Given the description of an element on the screen output the (x, y) to click on. 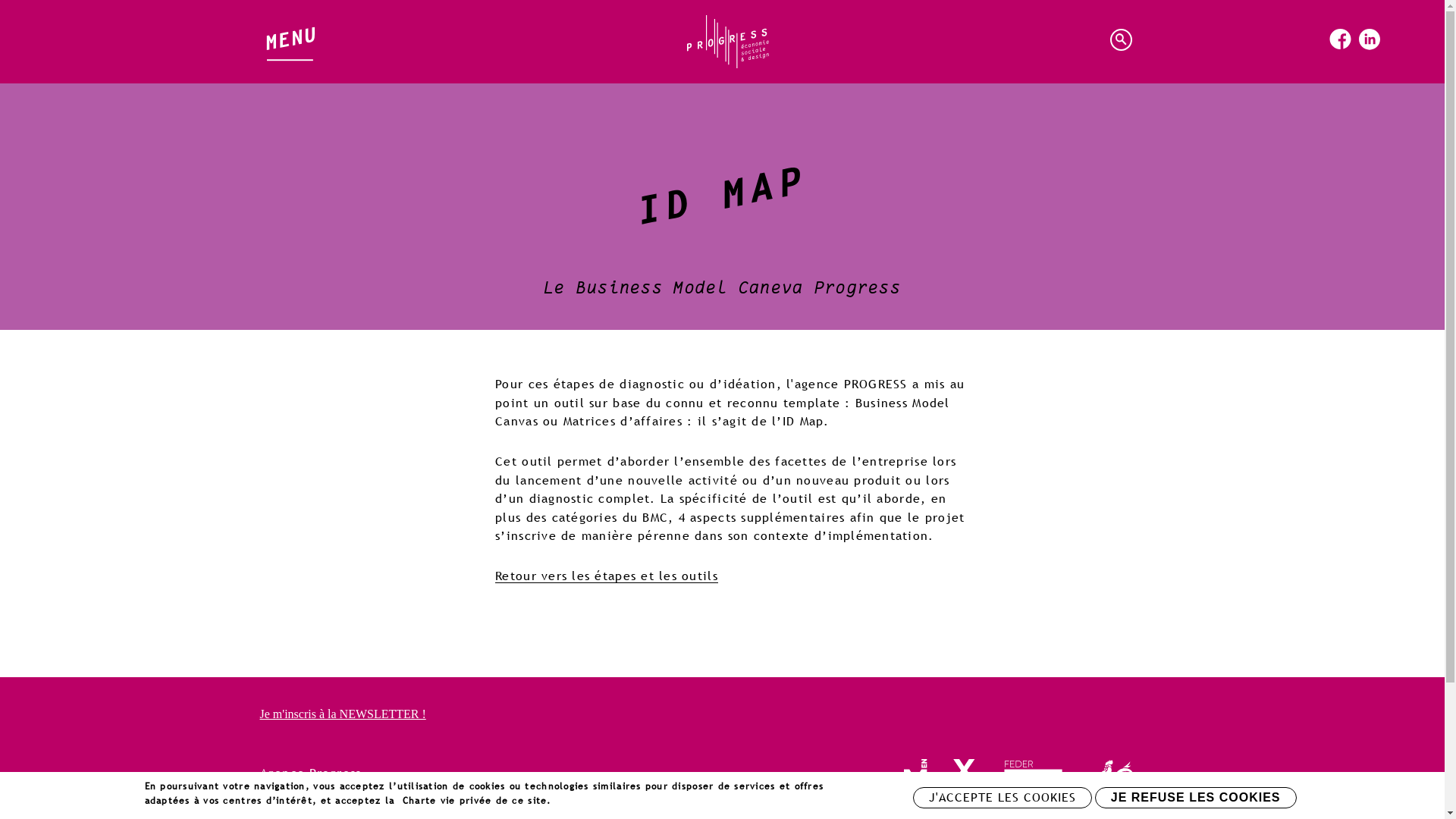
J'ACCEPTE LES COOKIES Element type: text (1002, 797)
Rechercher Element type: text (1122, 41)
JE REFUSE LES COOKIES Element type: text (1195, 797)
MENU Element type: text (289, 34)
En savoir plus Element type: text (589, 799)
